Given the description of an element on the screen output the (x, y) to click on. 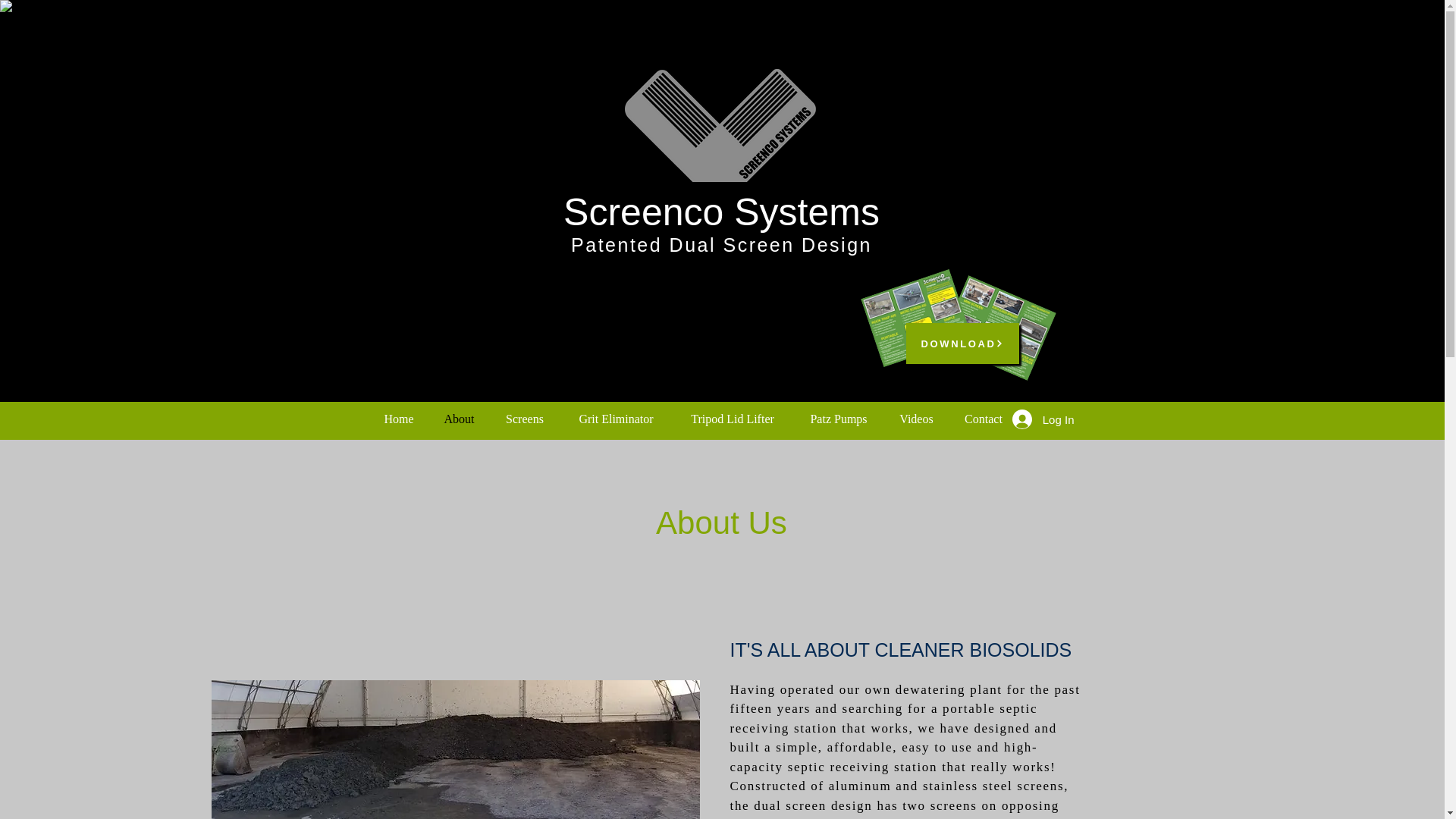
DOWNLOAD (961, 342)
Log In (1042, 419)
Home (398, 419)
7f56627a000531e61cd49fa1b8e1ac3b.jfif (454, 749)
Grit Eliminator (615, 419)
About (459, 419)
Screenco Systems (721, 211)
Videos (915, 419)
Patz Pumps (839, 419)
Screens (524, 419)
Contact (982, 419)
Tripod Lid Lifter (731, 419)
